Given the description of an element on the screen output the (x, y) to click on. 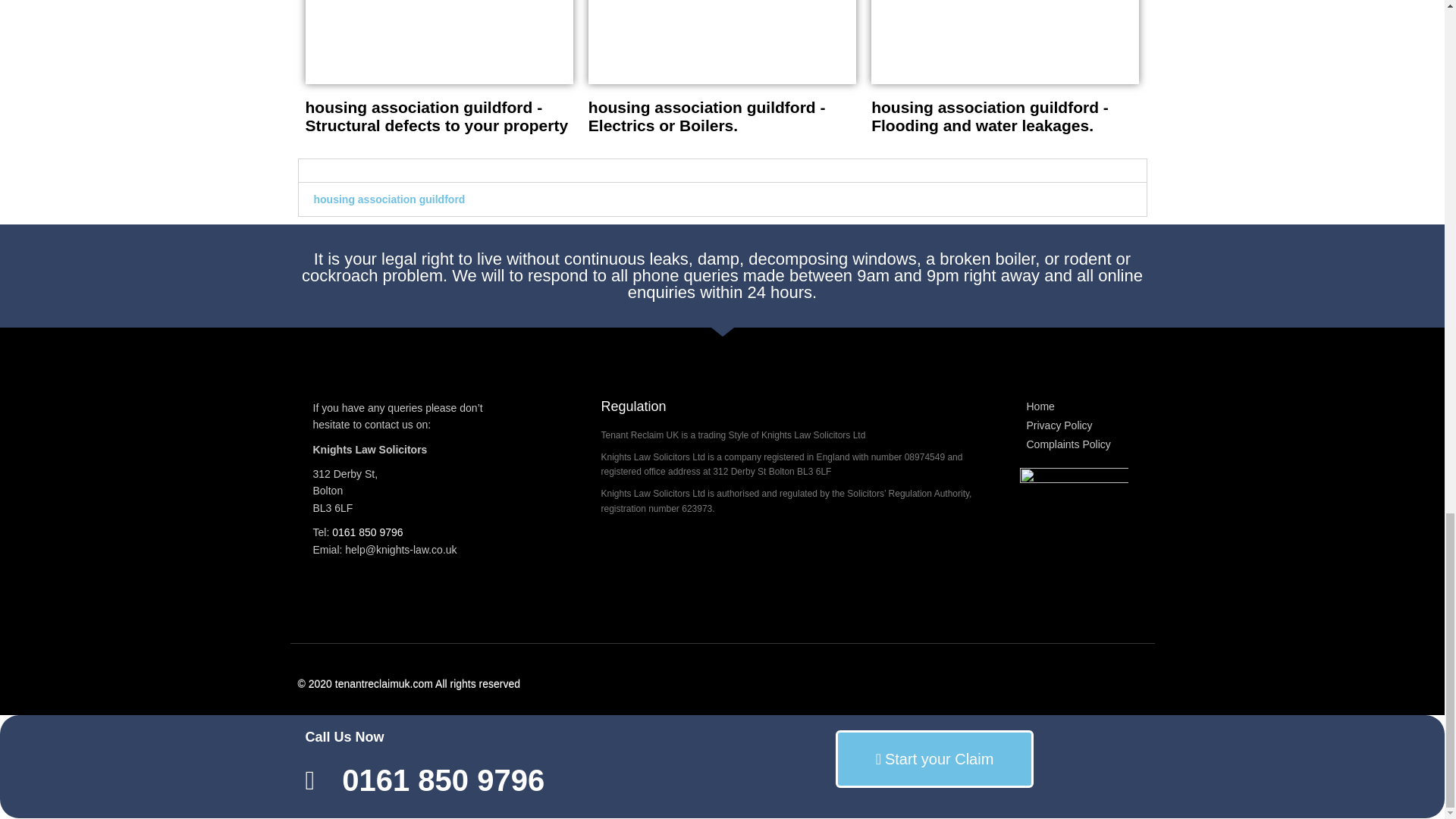
0161 850 9796 (509, 780)
Complaints Policy (1074, 444)
housing association guildford (389, 199)
Privacy Policy (1074, 426)
0161 850 9796 (367, 532)
Home (1074, 406)
Start your Claim (934, 758)
tenantreclaimuk.com (383, 683)
